Given the description of an element on the screen output the (x, y) to click on. 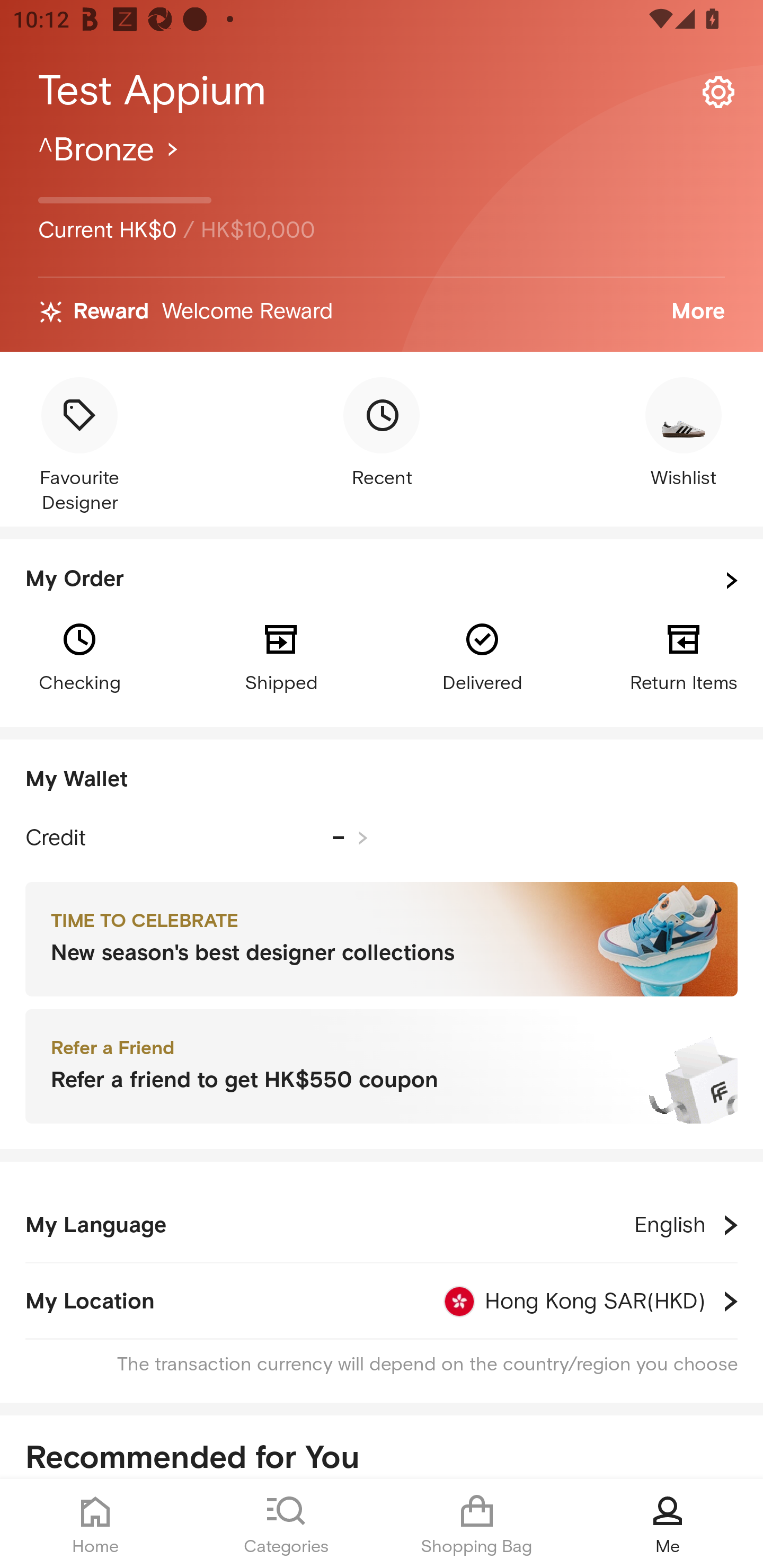
Test Appium (381, 91)
Reward Welcome Reward More (381, 311)
Favourite Designer (79, 446)
Recent (381, 433)
Wishlist (683, 433)
My Order (381, 580)
Checking (79, 656)
Shipped (280, 656)
Delivered (482, 656)
Return Items (683, 656)
My Wallet (381, 779)
Credit - (196, 837)
Refer a Friend Refer a friend to get HK$550 coupon (381, 1066)
My Language English (381, 1224)
My Location Hong Kong SAR(HKD) (381, 1301)
Home (95, 1523)
Categories (285, 1523)
Shopping Bag (476, 1523)
